Given the description of an element on the screen output the (x, y) to click on. 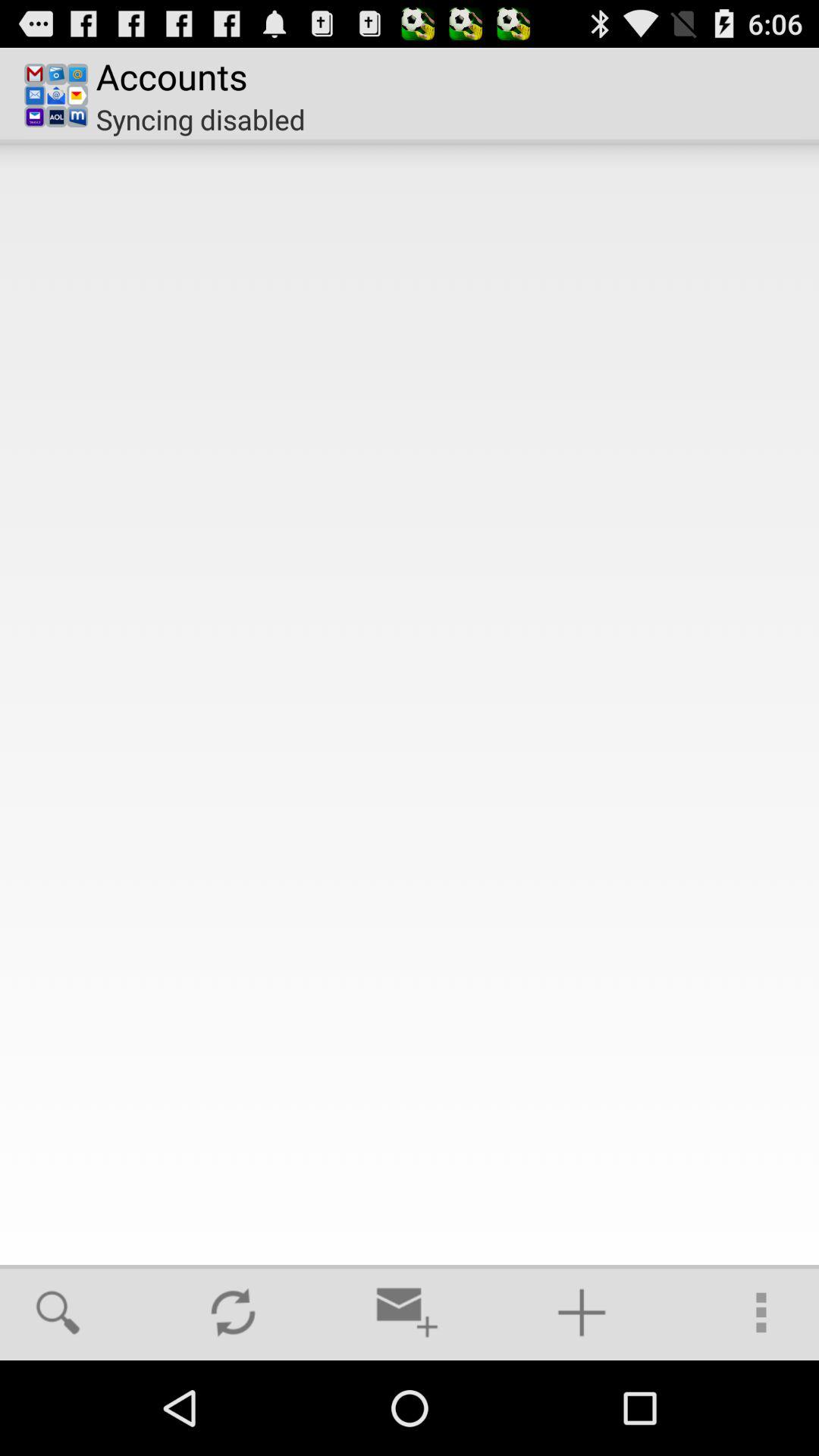
press the item at the center (409, 703)
